Given the description of an element on the screen output the (x, y) to click on. 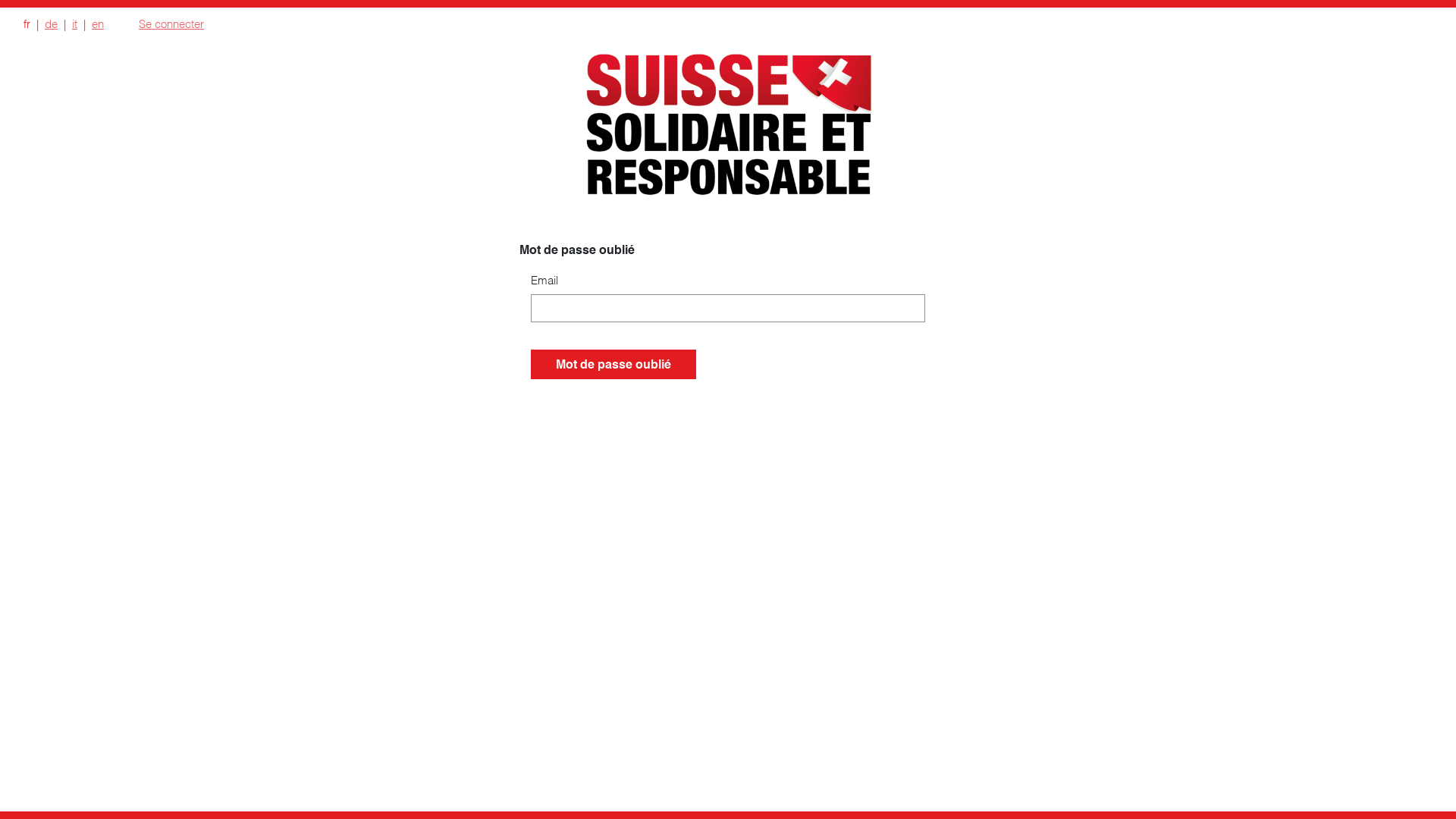
Se connecter Element type: text (171, 22)
it Element type: text (74, 22)
en Element type: text (98, 22)
de Element type: text (50, 22)
